Given the description of an element on the screen output the (x, y) to click on. 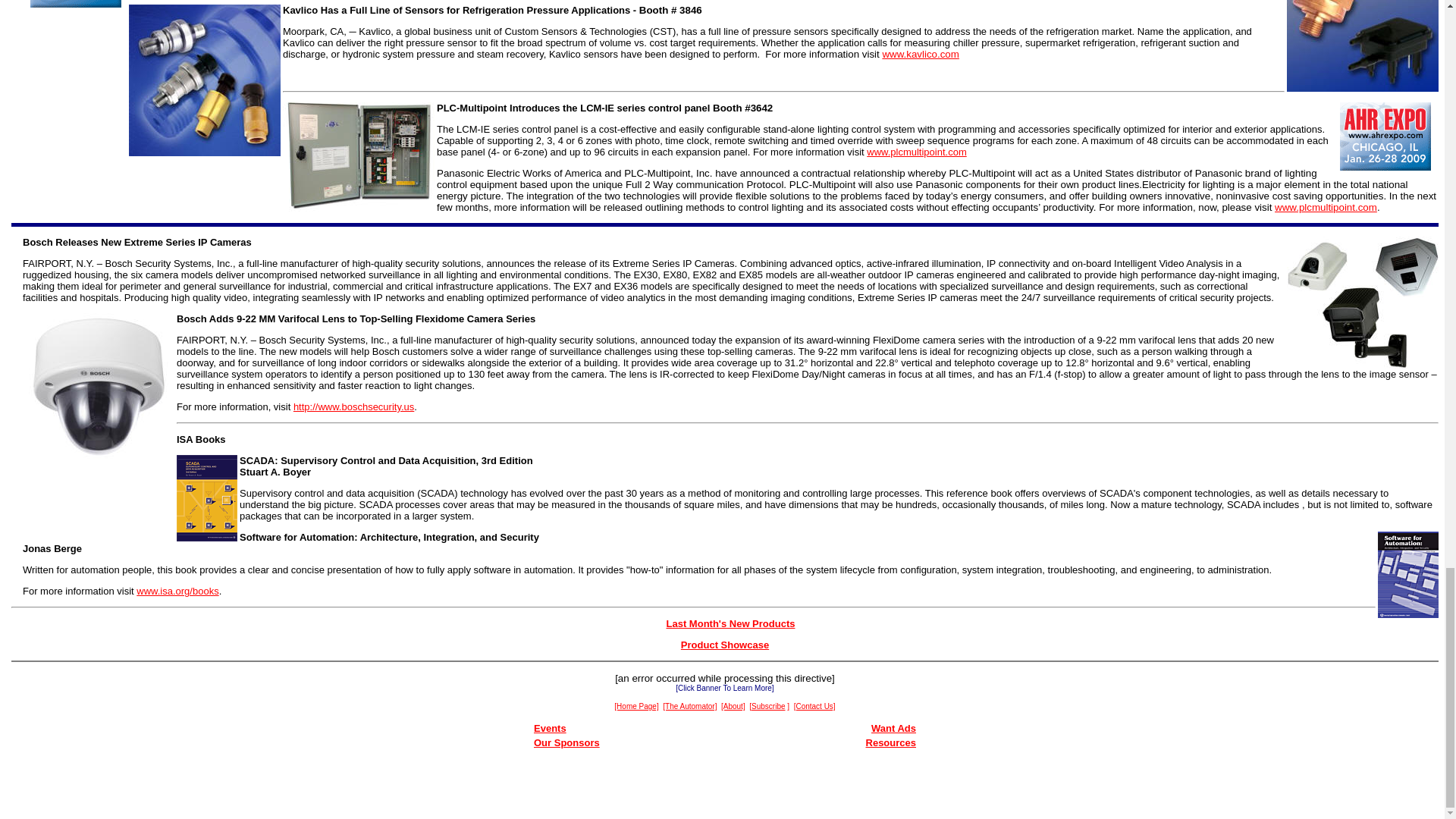
www.kavlico.com (920, 53)
Advertisement (724, 790)
